Given the description of an element on the screen output the (x, y) to click on. 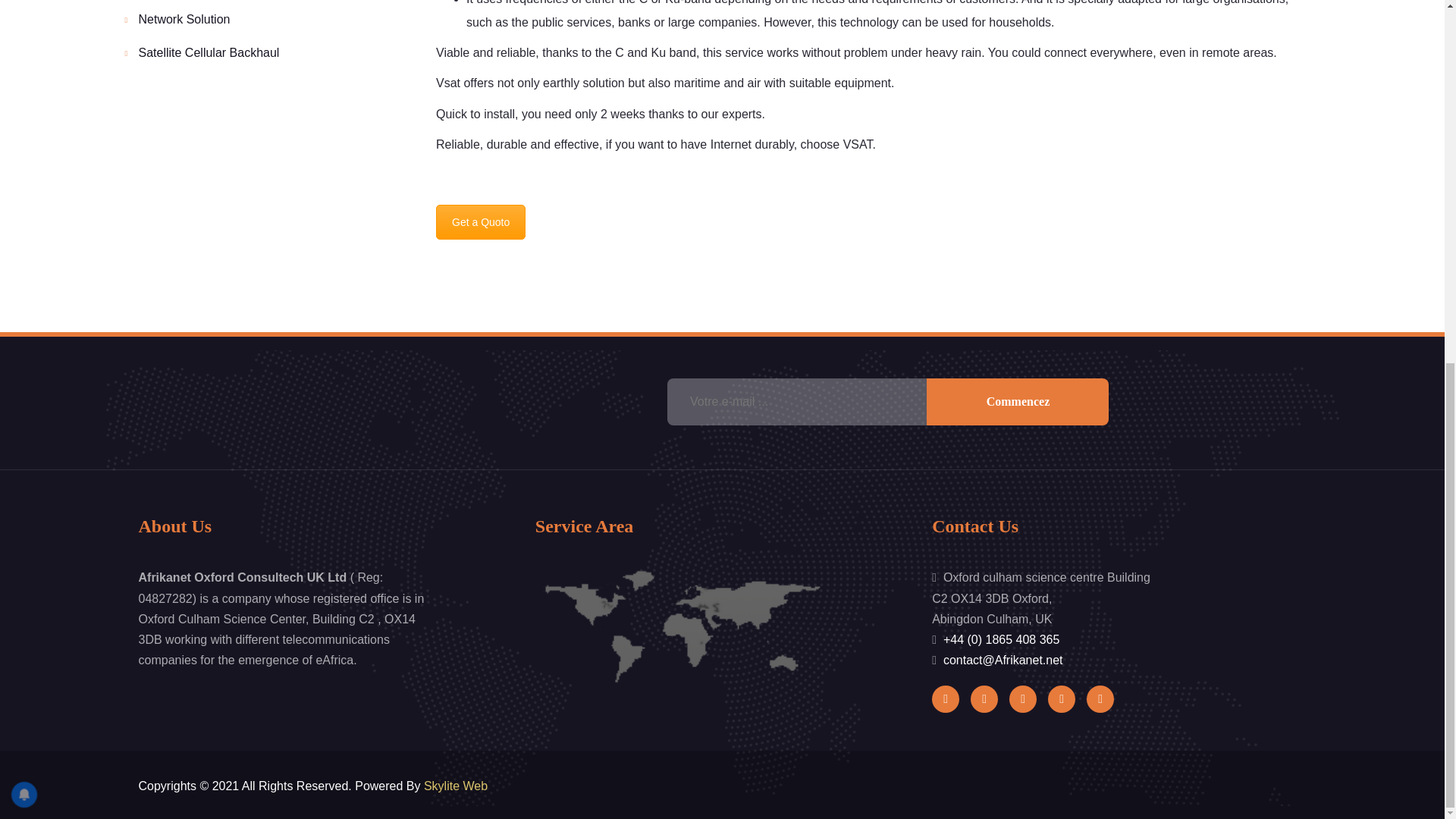
Satellite Cellular Backhaul (208, 51)
Get a Quoto (480, 221)
Commencez (1017, 401)
Network Solution (184, 19)
